Given the description of an element on the screen output the (x, y) to click on. 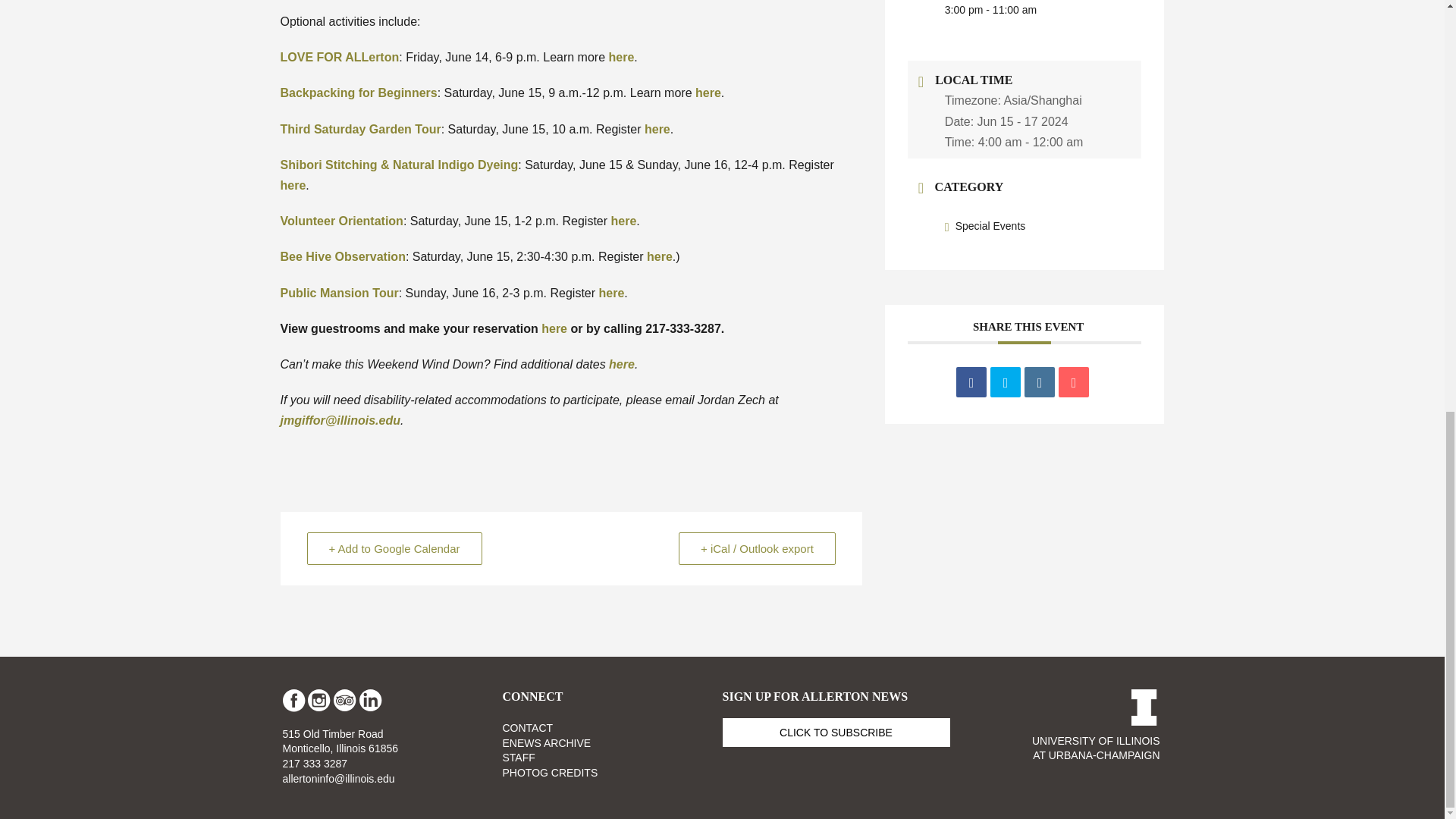
Linkedin (1039, 381)
Share on Facebook (971, 381)
Tweet (1005, 381)
Email (1073, 381)
